Given the description of an element on the screen output the (x, y) to click on. 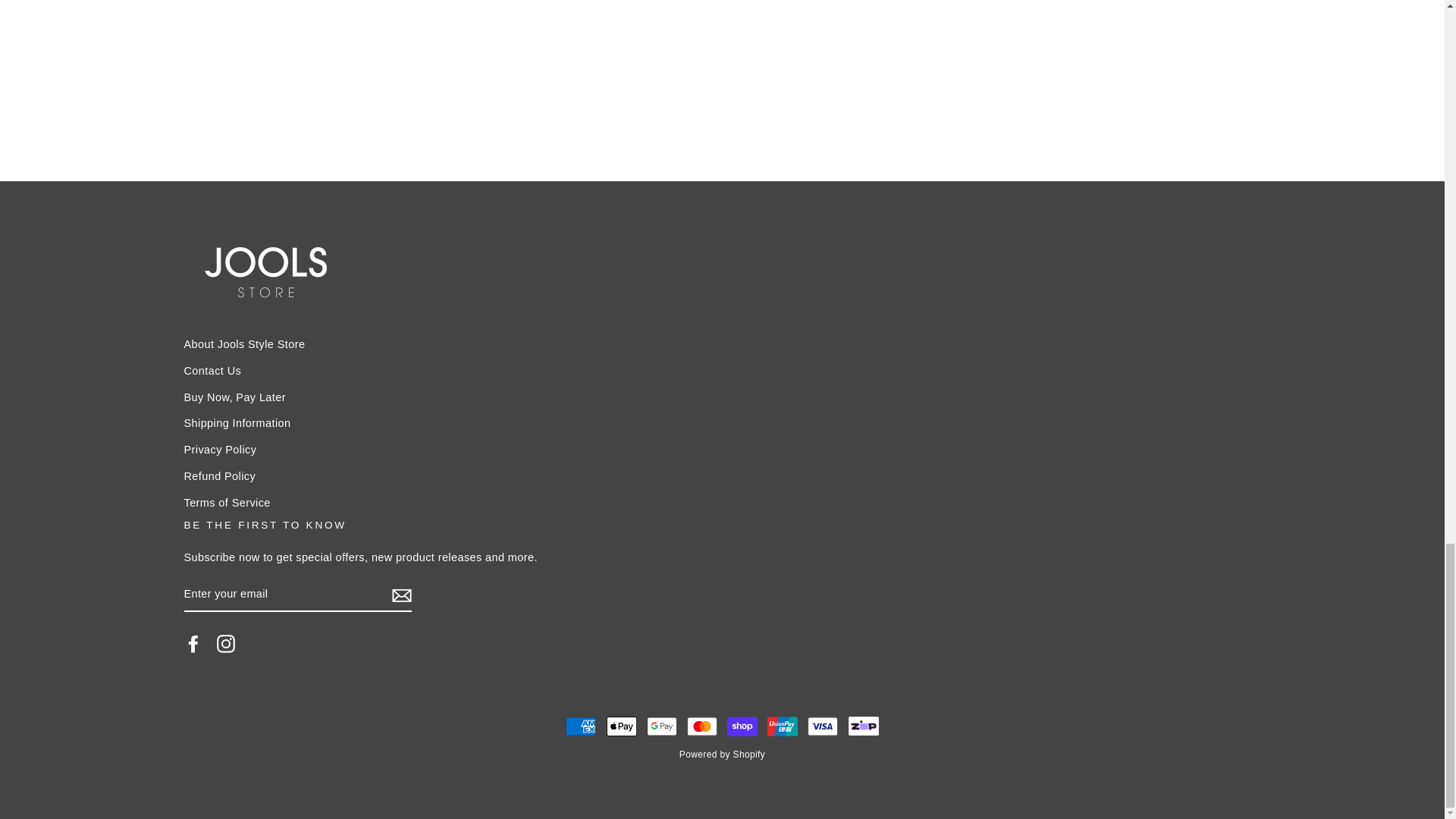
Visa (823, 726)
Jools Style on Facebook (192, 643)
Mastercard (702, 726)
Apple Pay (622, 726)
Union Pay (782, 726)
Google Pay (661, 726)
Jools Style on Instagram (225, 643)
Shop Pay (741, 726)
American Express (580, 726)
